Given the description of an element on the screen output the (x, y) to click on. 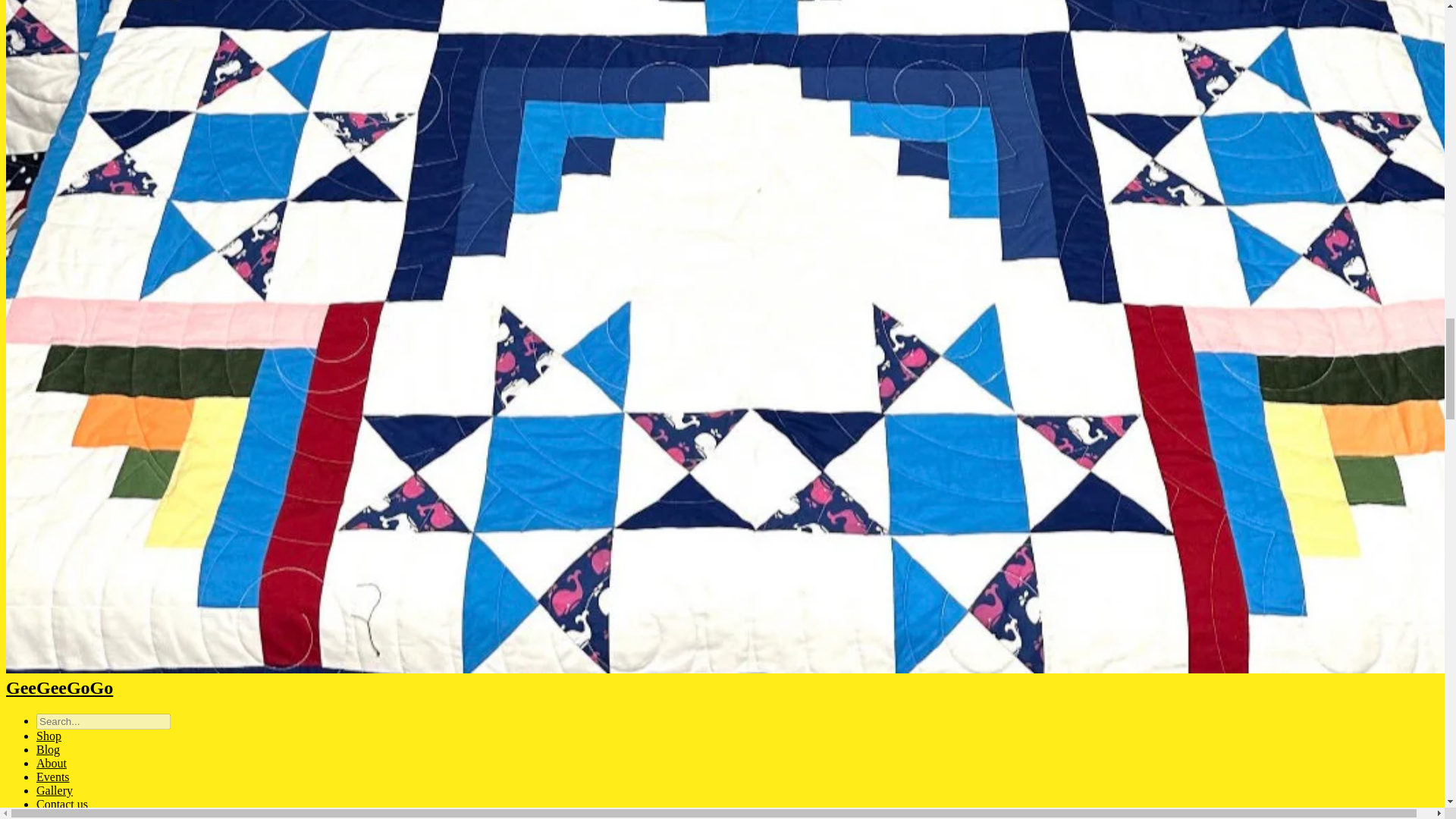
Contact us (61, 803)
About (51, 762)
Shop (48, 735)
Gallery (54, 789)
Blog (47, 748)
Events (52, 776)
